Given the description of an element on the screen output the (x, y) to click on. 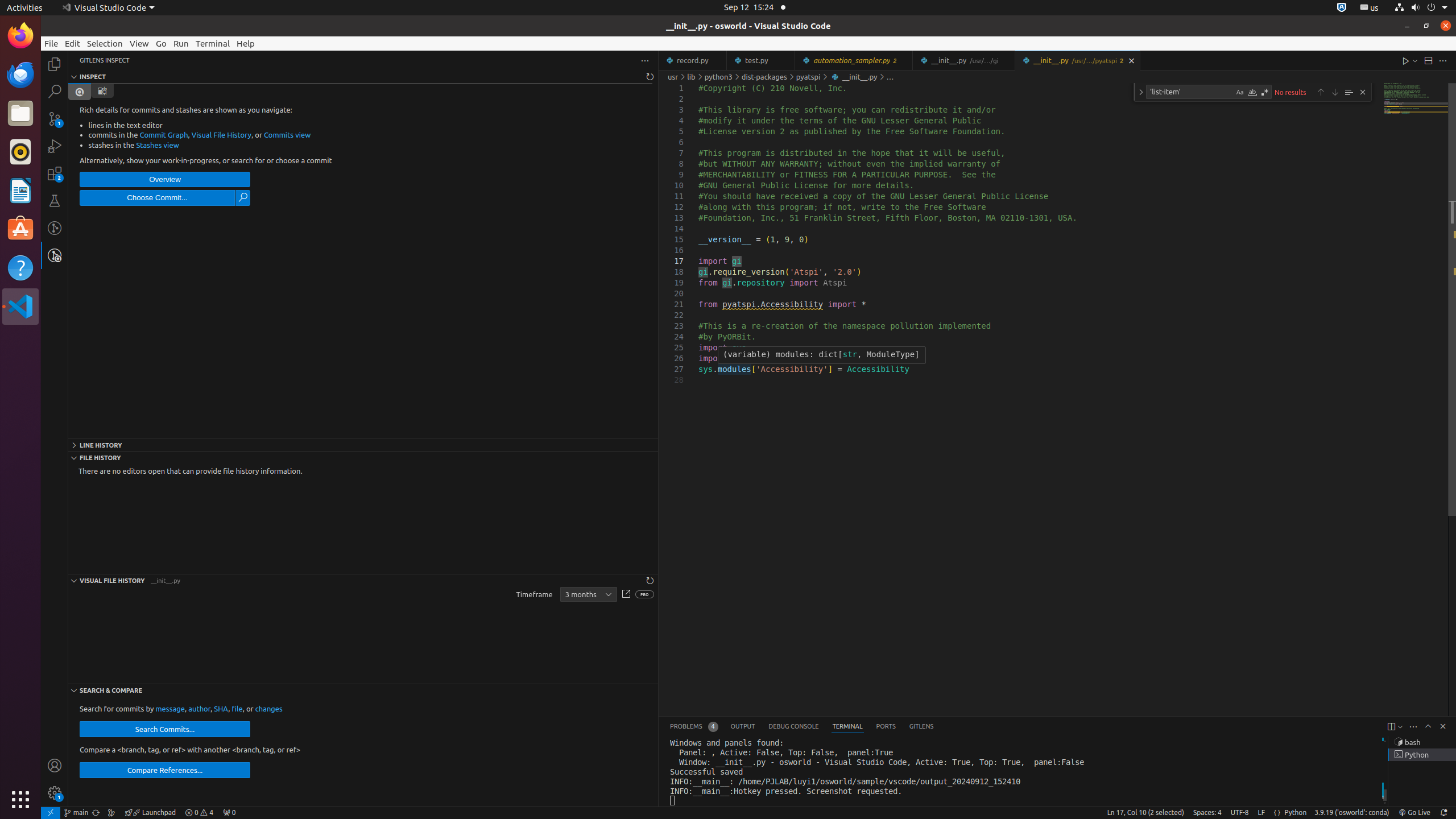
No Ports Forwarded Element type: push-button (228, 812)
Run and Debug (Ctrl+Shift+D) Element type: page-tab (54, 145)
New Terminal (Ctrl+Shift+`) [Alt] Split Terminal (Ctrl+Shift+5) Element type: push-button (1390, 726)
Edit Element type: push-button (72, 43)
